Given the description of an element on the screen output the (x, y) to click on. 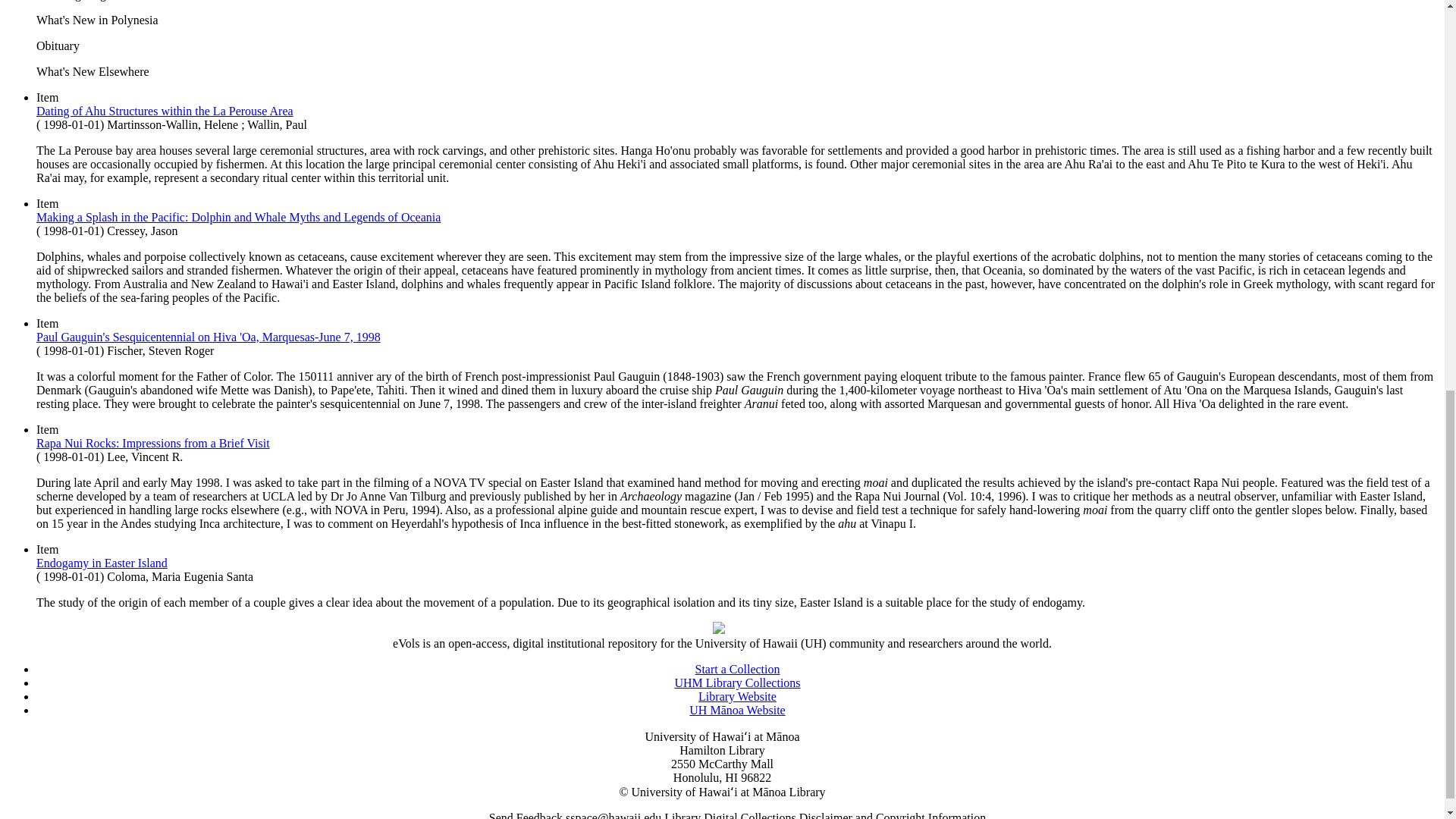
Dating of Ahu Structures within the La Perouse Area (165, 110)
Endogamy in Easter Island (101, 562)
Rapa Nui Rocks: Impressions from a Brief Visit (152, 442)
